Given the description of an element on the screen output the (x, y) to click on. 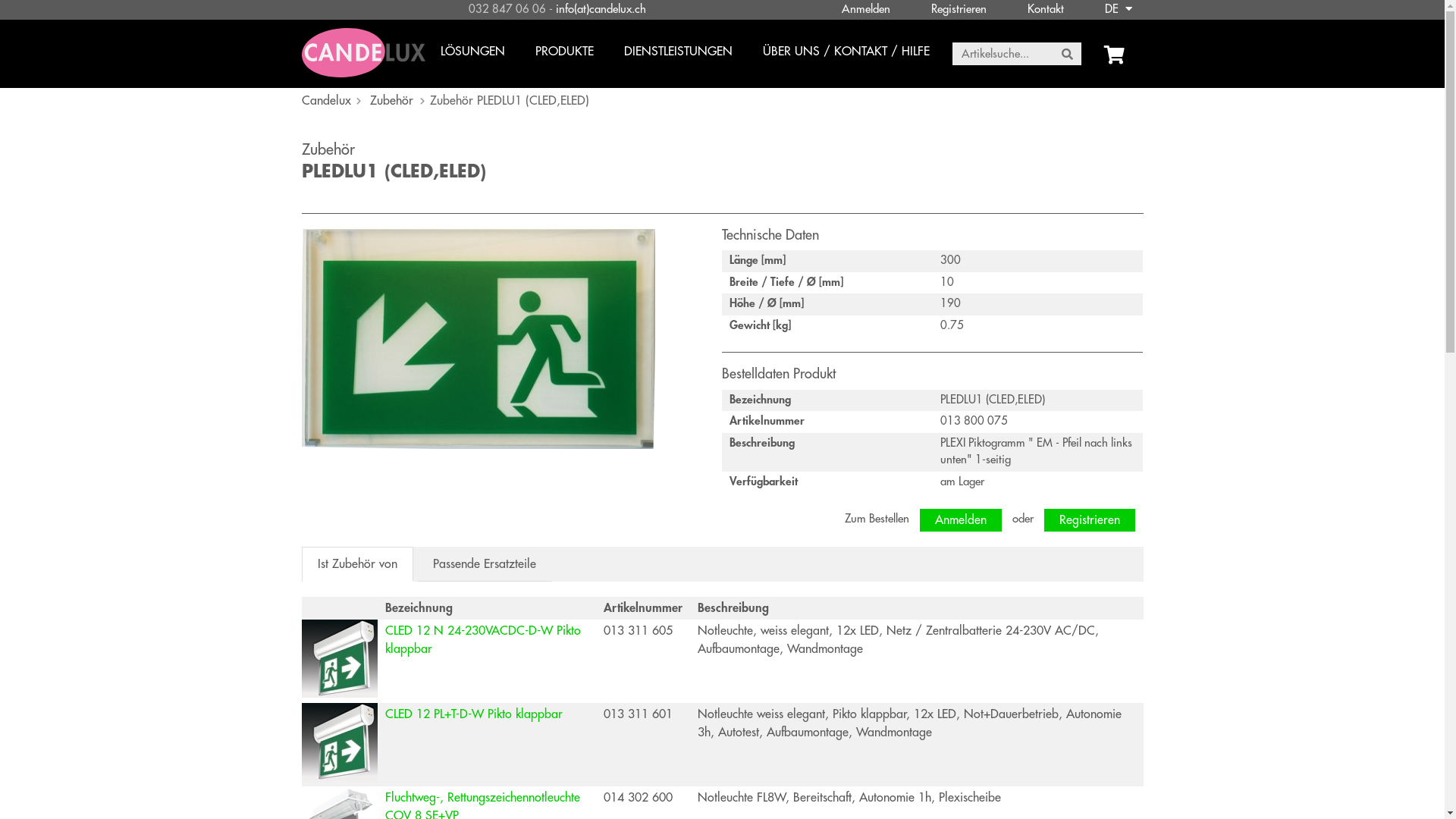
DIENSTLEISTUNGEN Element type: text (677, 53)
CLED 12 N 24-230VACDC-D-W Pikto klappbar Element type: text (487, 639)
info(at)candelux.ch Element type: text (600, 9)
Anmelden Element type: text (960, 519)
Passende Ersatzteile Element type: text (483, 563)
Kontakt Element type: text (1044, 9)
CLED 12 PL+T-D-W Pikto klappbar Element type: text (473, 714)
Anmelden Element type: text (865, 9)
DE Element type: text (1119, 9)
Registrieren Element type: text (1089, 519)
Candelux Element type: text (326, 100)
PRODUKTE Element type: text (564, 53)
Registrieren Element type: text (958, 9)
search Element type: text (1067, 54)
